Given the description of an element on the screen output the (x, y) to click on. 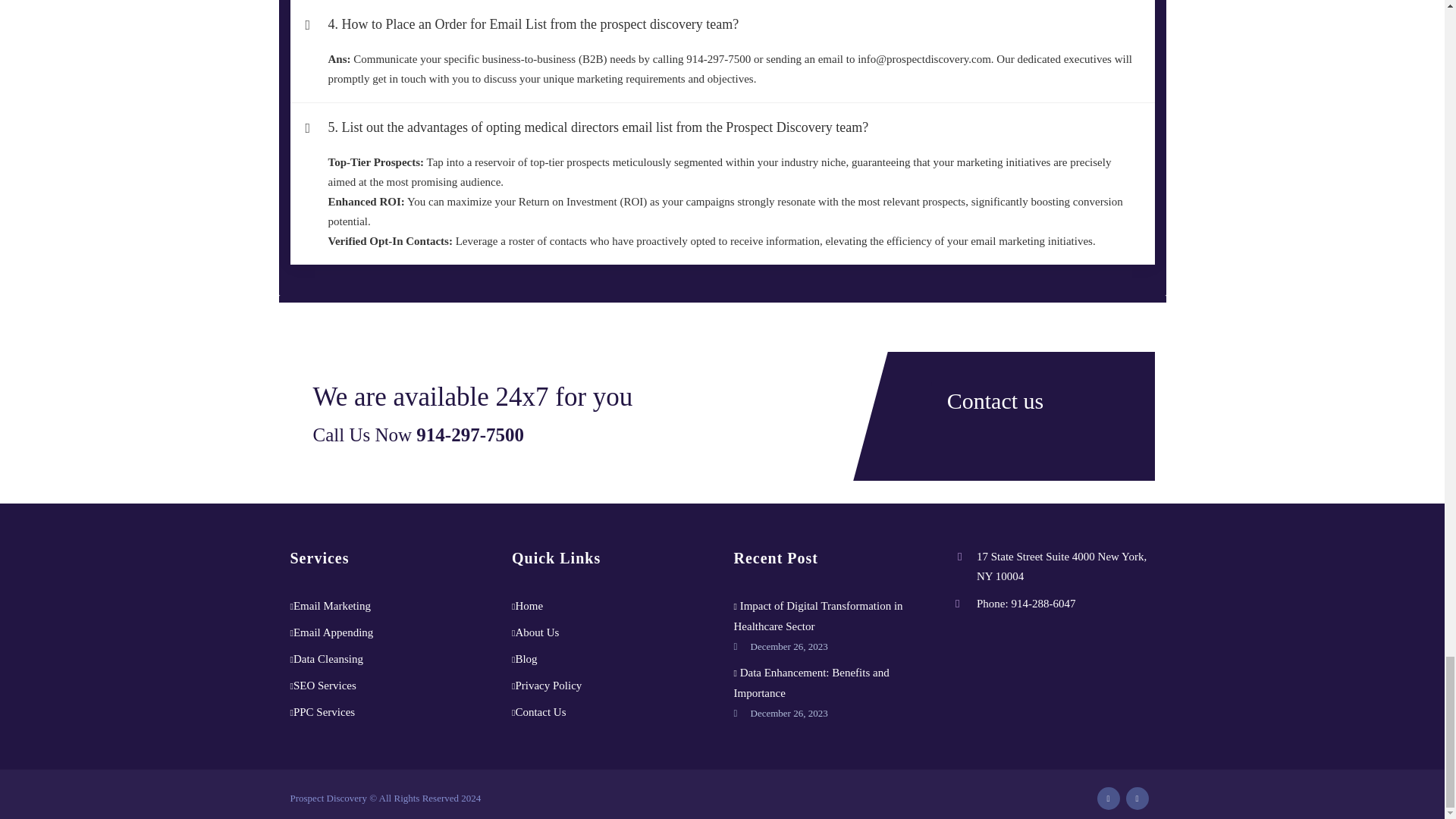
Data Cleansing (328, 658)
PPC Services (324, 711)
Blog (526, 658)
Home (529, 605)
Impact of Digital Transformation in Healthcare Sector (817, 615)
Contact Us (540, 711)
Contact us (995, 399)
Email Appending (333, 632)
Privacy Policy (547, 685)
About Us (537, 632)
SEO Services (325, 685)
Email Marketing (332, 605)
Data Enhancement: Benefits and Importance (811, 682)
